Given the description of an element on the screen output the (x, y) to click on. 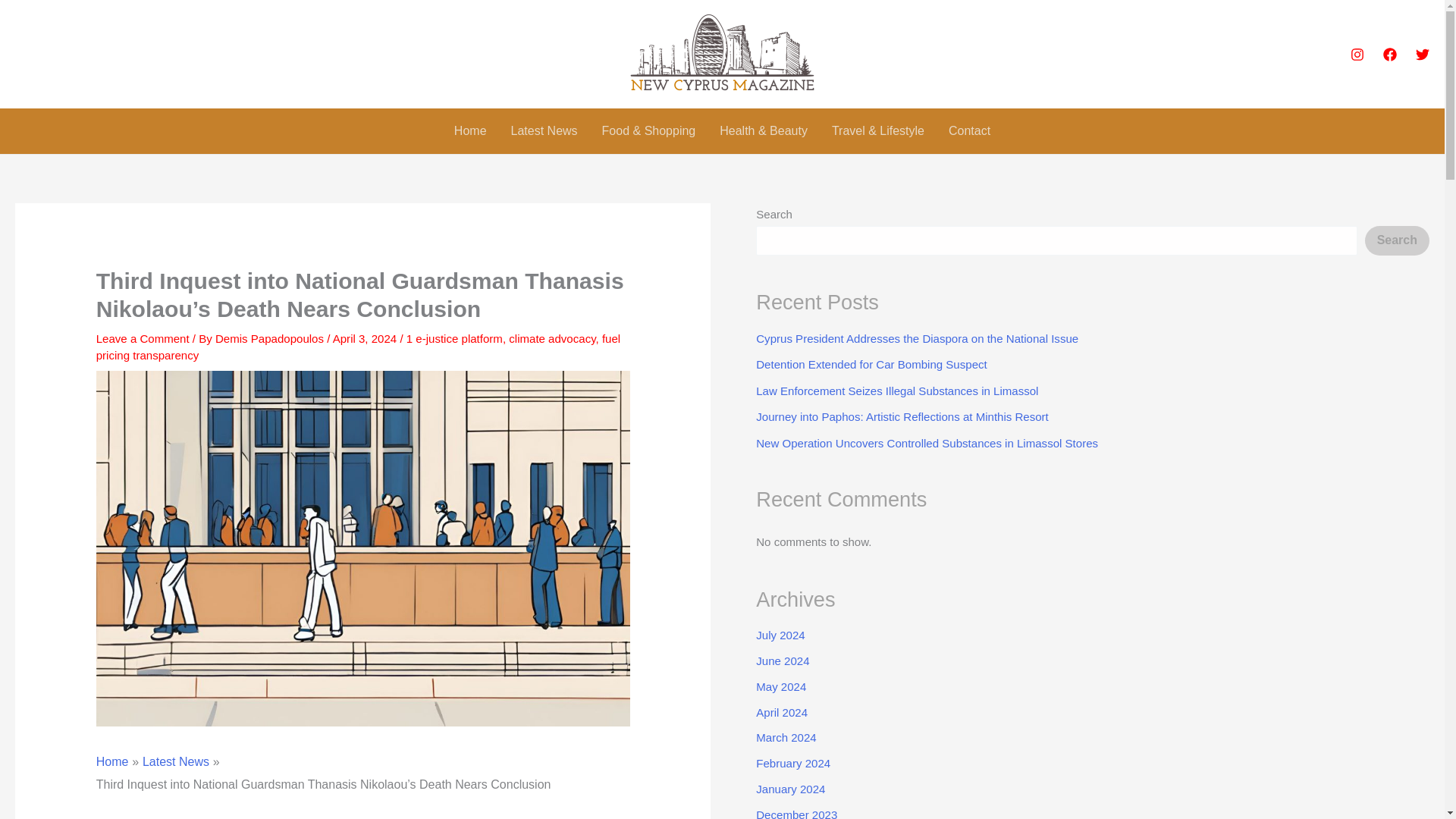
climate advocacy (551, 338)
Contact (969, 130)
Search (1397, 240)
fuel pricing transparency (358, 346)
Latest News (544, 130)
Home (470, 130)
Demis Papadopoulos (270, 338)
1 e-justice platform (454, 338)
View all posts by Demis Papadopoulos (270, 338)
Latest News (175, 761)
